Given the description of an element on the screen output the (x, y) to click on. 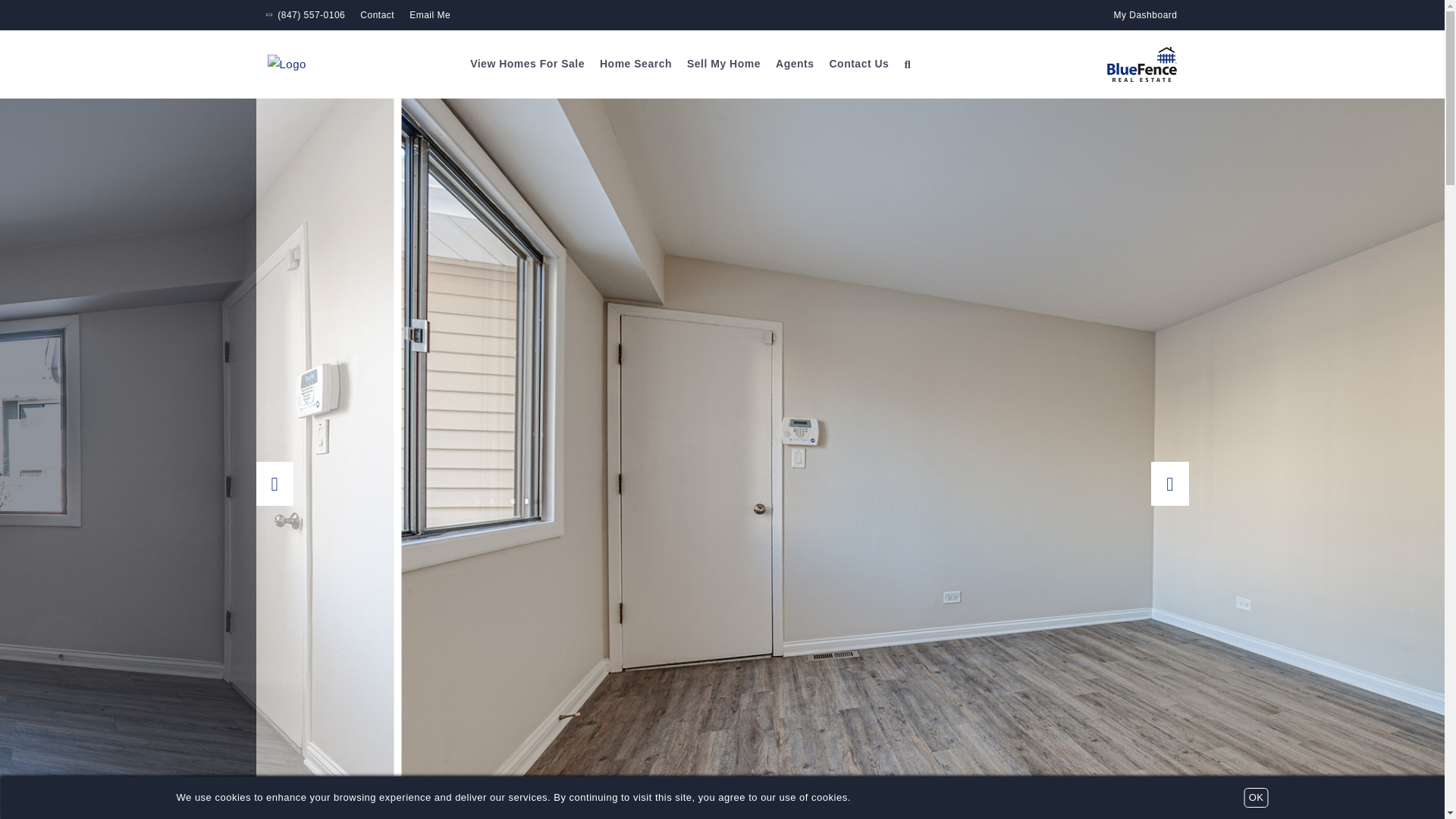
My Dashboard (1144, 14)
View Homes For Sale (527, 63)
Contact (376, 14)
Email Me (429, 14)
Sell My Home (723, 63)
Agents (794, 63)
Home Search (635, 63)
Contact Us (858, 63)
